Given the description of an element on the screen output the (x, y) to click on. 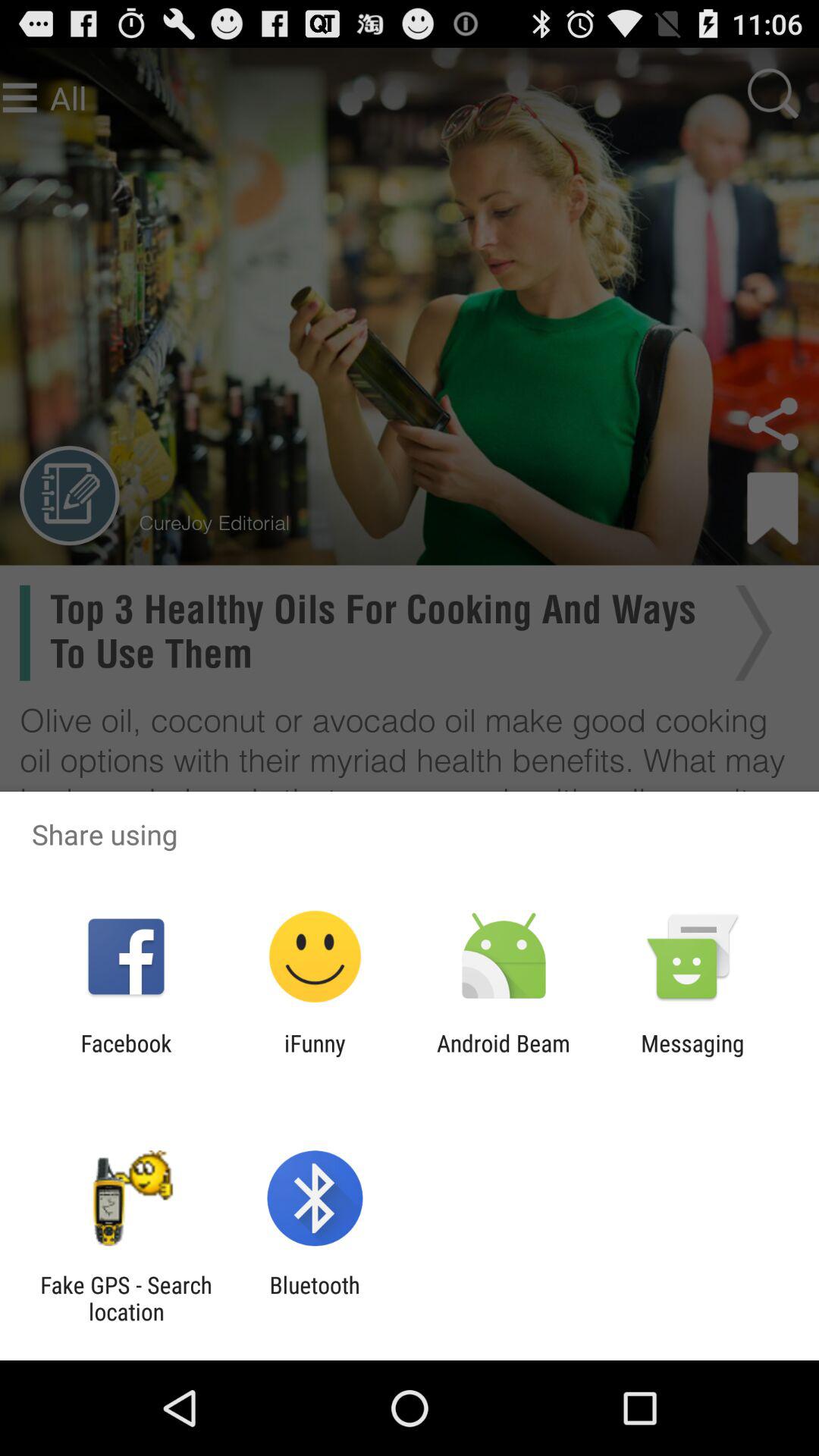
press the icon next to android beam app (692, 1056)
